Given the description of an element on the screen output the (x, y) to click on. 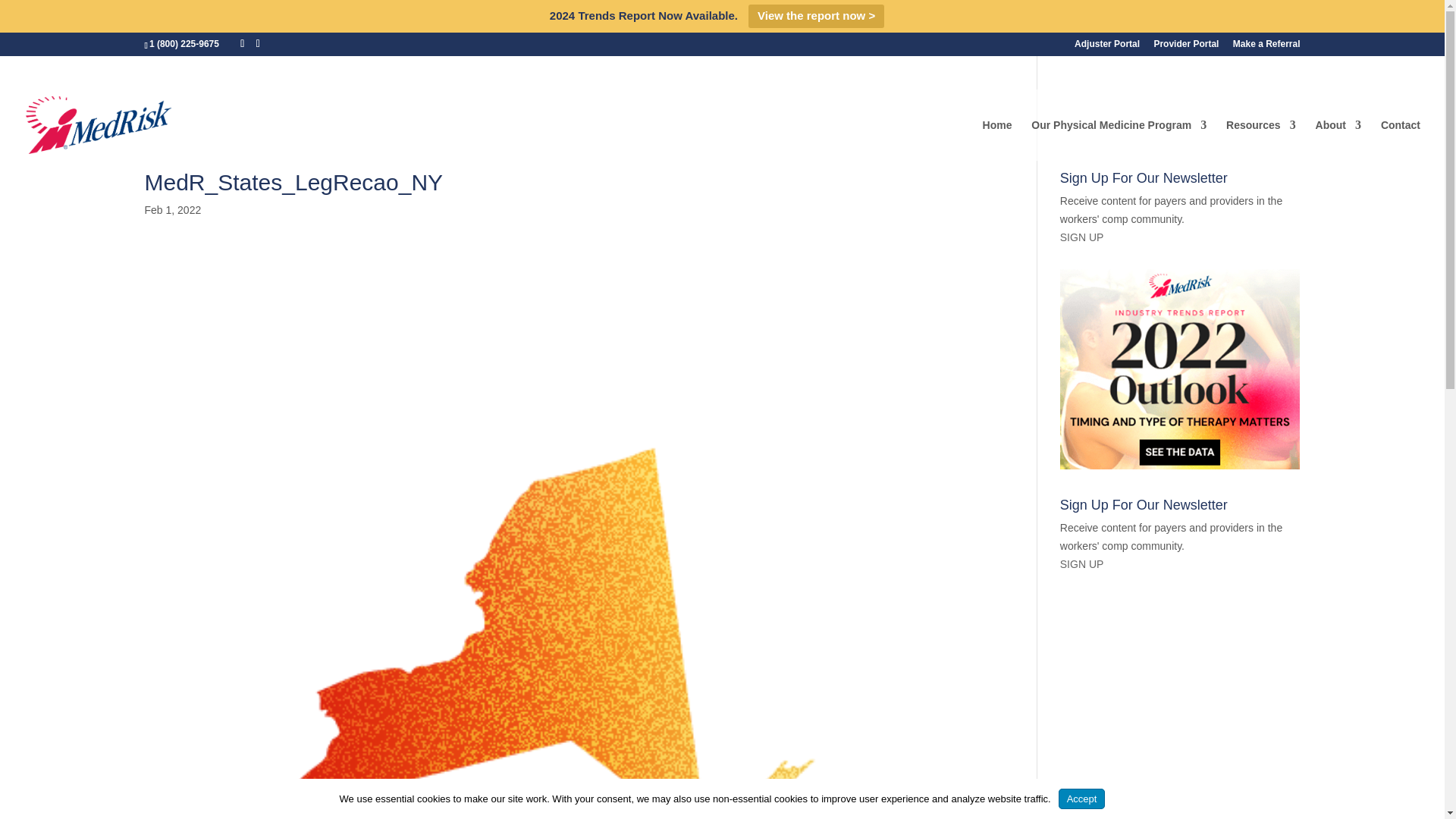
Contact (1400, 139)
Resources (1260, 139)
Adjuster Portal (1107, 47)
Our Physical Medicine Program (1118, 139)
About (1338, 139)
Make a Referral (1266, 47)
Provider Portal (1185, 47)
